Given the description of an element on the screen output the (x, y) to click on. 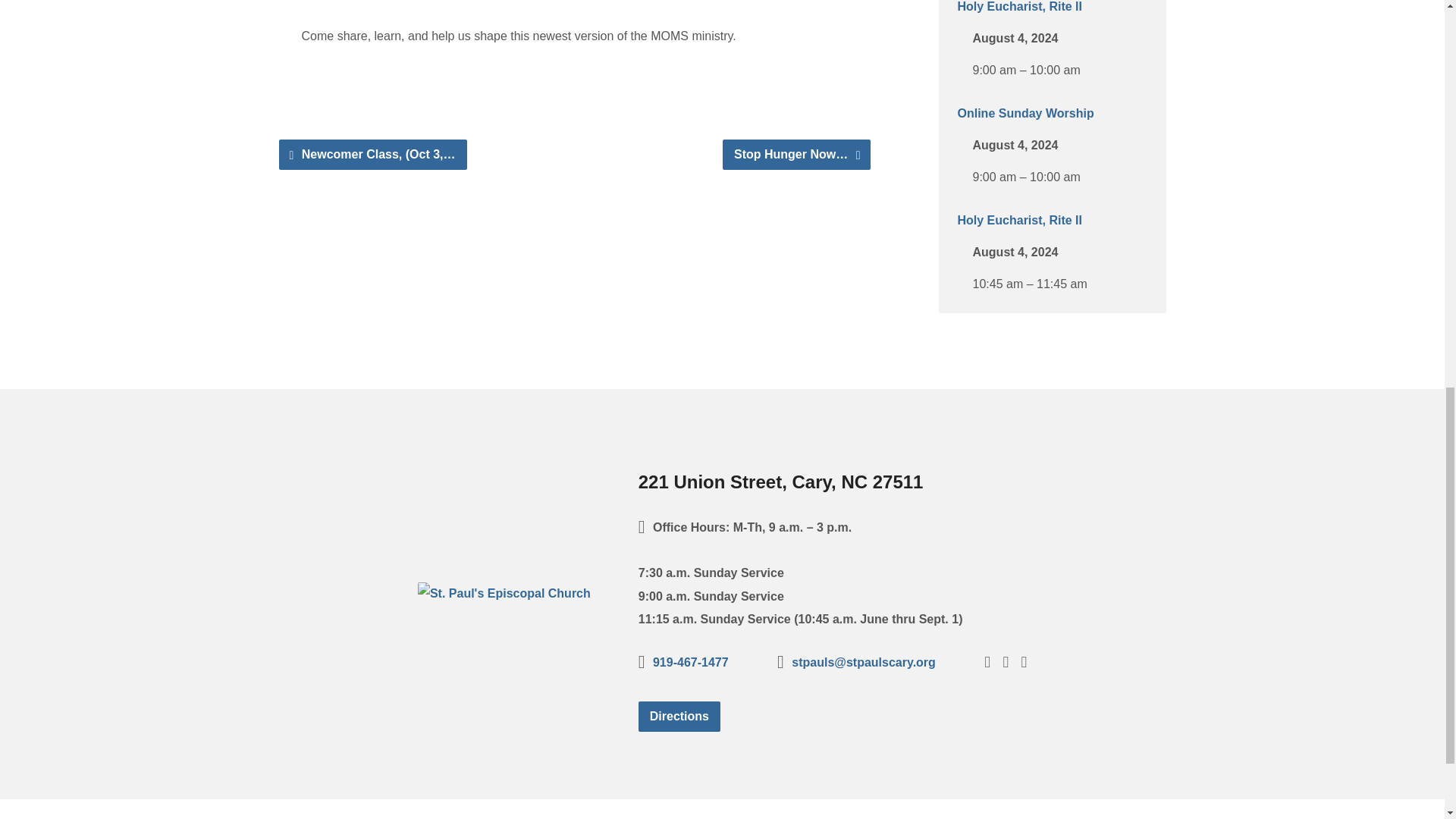
Online Sunday Worship (1024, 113)
Holy Eucharist, Rite II (1018, 6)
Holy Eucharist, Rite II (1018, 219)
